Given the description of an element on the screen output the (x, y) to click on. 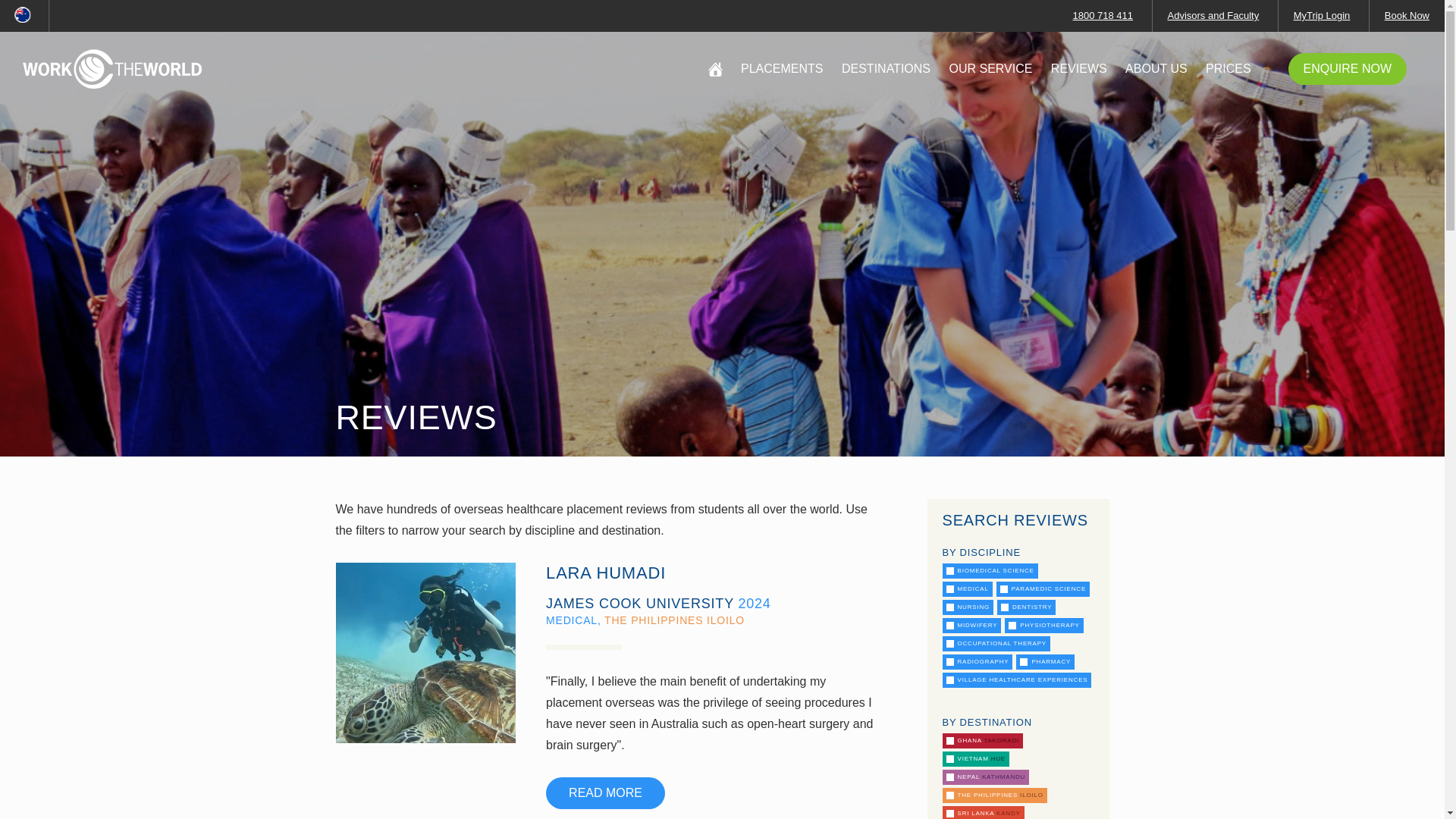
MyTrip Login (1322, 15)
HOME (714, 69)
Book Now (1406, 15)
Home (112, 68)
PLACEMENTS (781, 69)
ENQUIRE NOW (1347, 69)
OUR SERVICE (990, 69)
Advisors and Faculty (1213, 15)
DESTINATIONS (885, 69)
1800 718 411 (1103, 15)
